Given the description of an element on the screen output the (x, y) to click on. 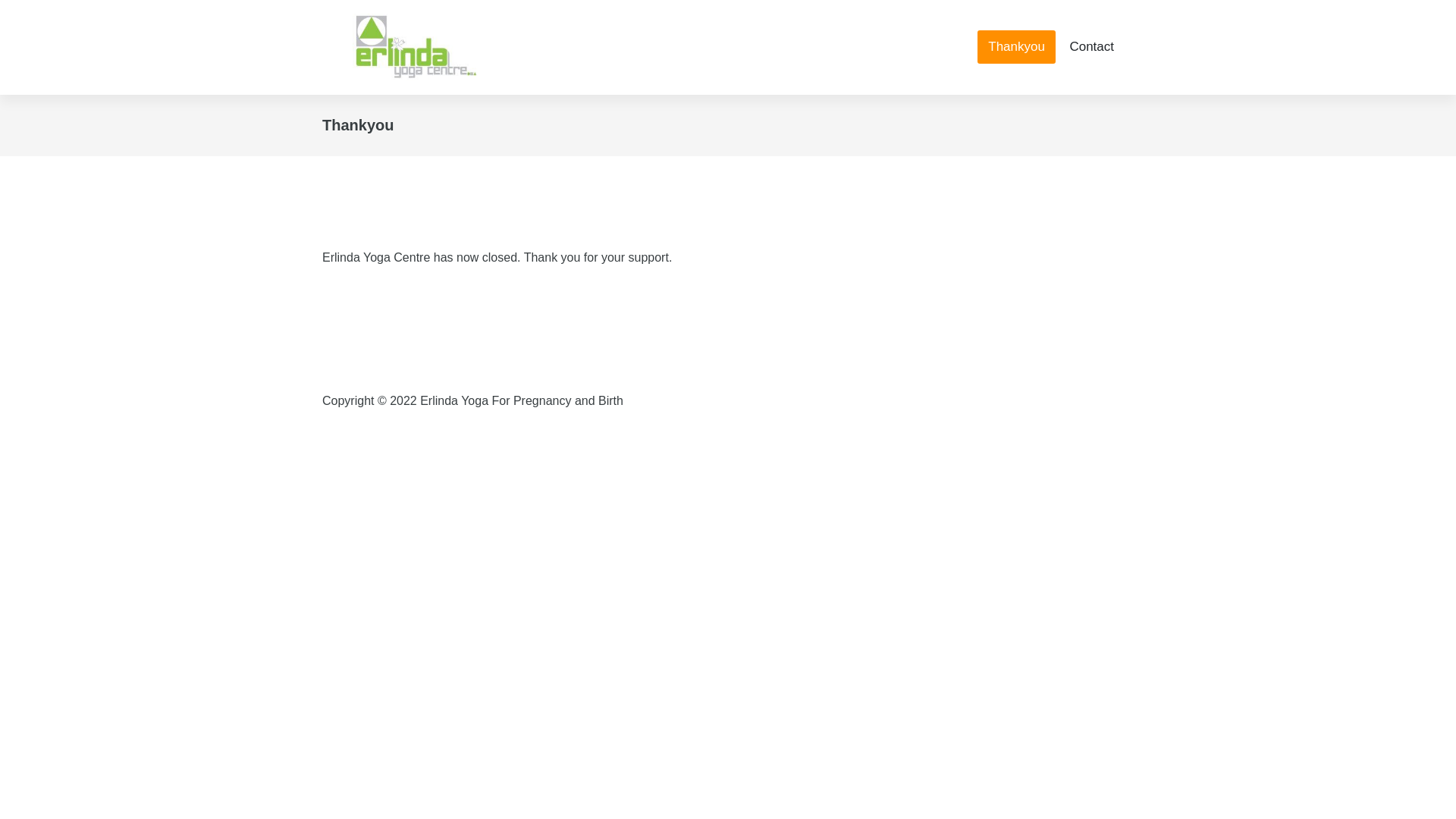
Thankyou Element type: text (1016, 46)
Contact Element type: text (1091, 46)
